Given the description of an element on the screen output the (x, y) to click on. 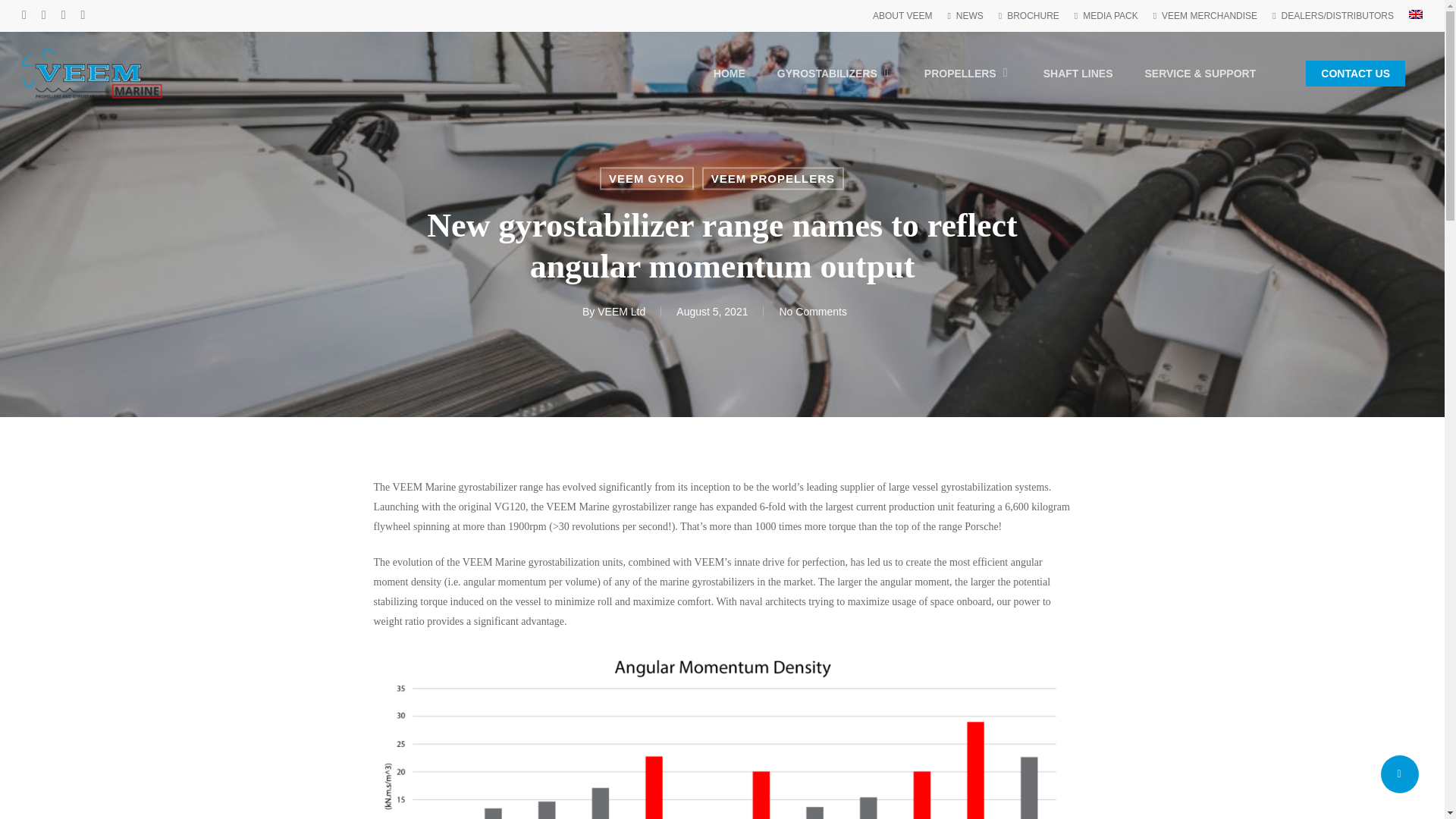
HOME (729, 73)
Posts by VEEM Ltd (620, 310)
GYROSTABILIZERS (834, 73)
MEDIA PACK (1106, 15)
BROCHURE (1028, 15)
VEEM MERCHANDISE (1205, 15)
ABOUT VEEM (901, 15)
NEWS (964, 15)
